Given the description of an element on the screen output the (x, y) to click on. 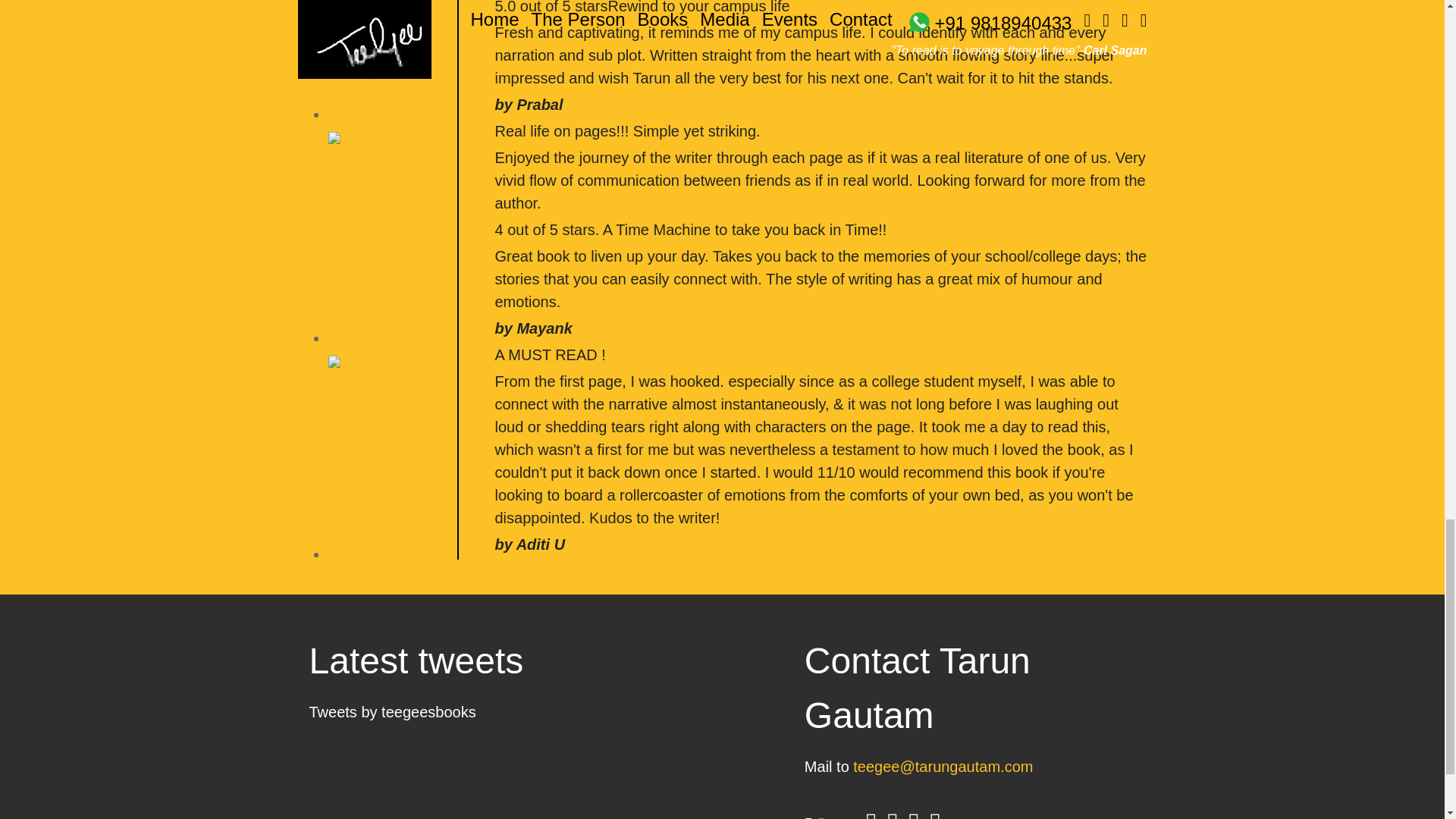
Tweets by teegeesbooks (392, 711)
